Given the description of an element on the screen output the (x, y) to click on. 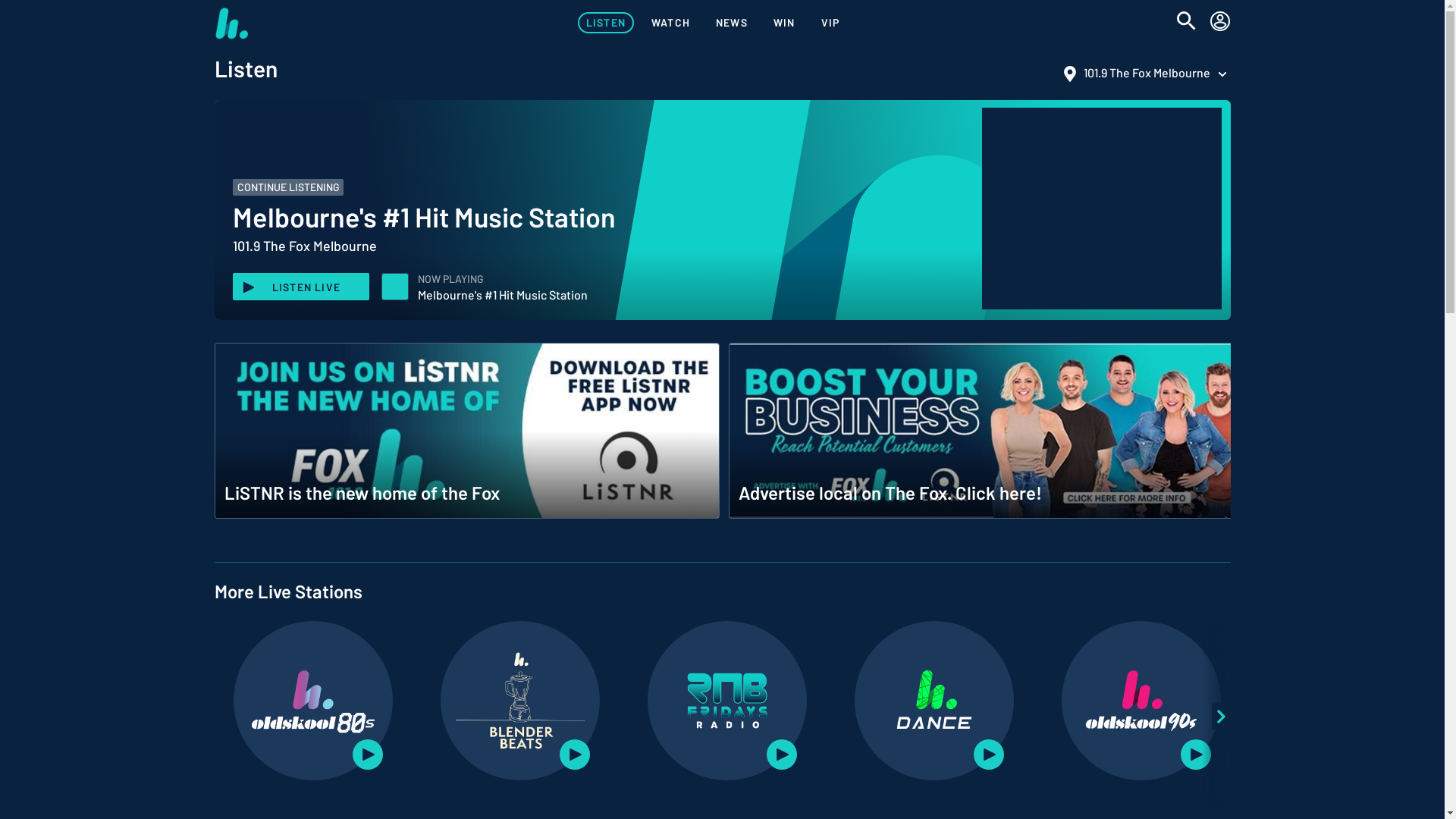
RnB Fridays Radio Element type: hover (726, 700)
Melbourne's #1 Hit Music Station Element type: hover (394, 287)
Hit Network Element type: hover (230, 23)
3rd party ad content Element type: hover (1100, 208)
NEWS Element type: text (731, 22)
LISTEN Element type: text (605, 22)
Blender Beats Element type: hover (519, 700)
OldSkool80s Element type: hover (312, 700)
WATCH Element type: text (670, 22)
Oldskool 90s Hits Element type: hover (1140, 700)
VIP Element type: text (830, 22)
Advertise local on The Fox. Click here! Element type: text (980, 431)
LISTEN LIVE Element type: text (300, 286)
LiSTNR is the new home of the Fox Element type: text (466, 431)
Dance Hits Element type: hover (933, 700)
WIN Element type: text (784, 22)
